Given the description of an element on the screen output the (x, y) to click on. 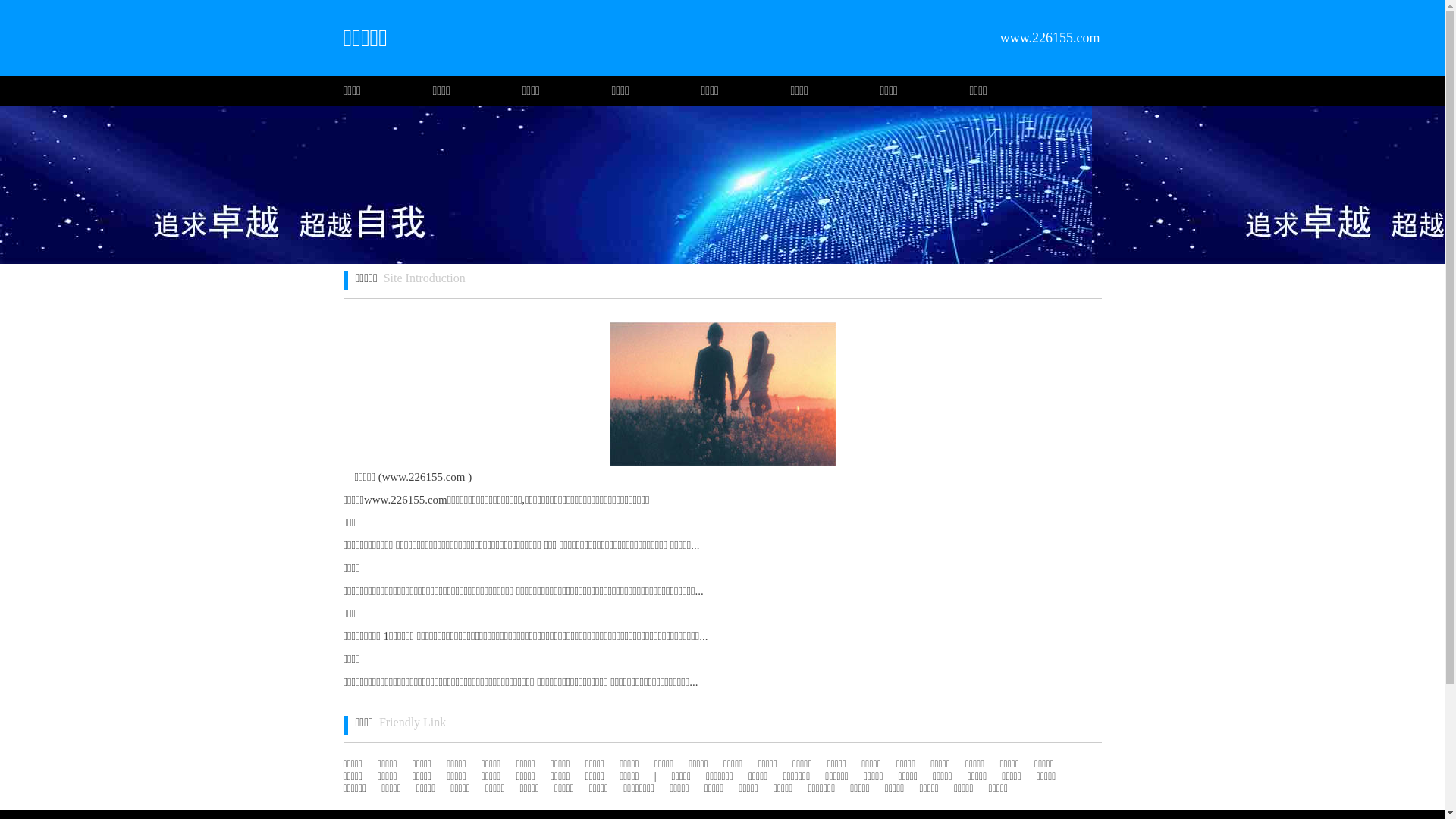
| Element type: text (655, 776)
